Given the description of an element on the screen output the (x, y) to click on. 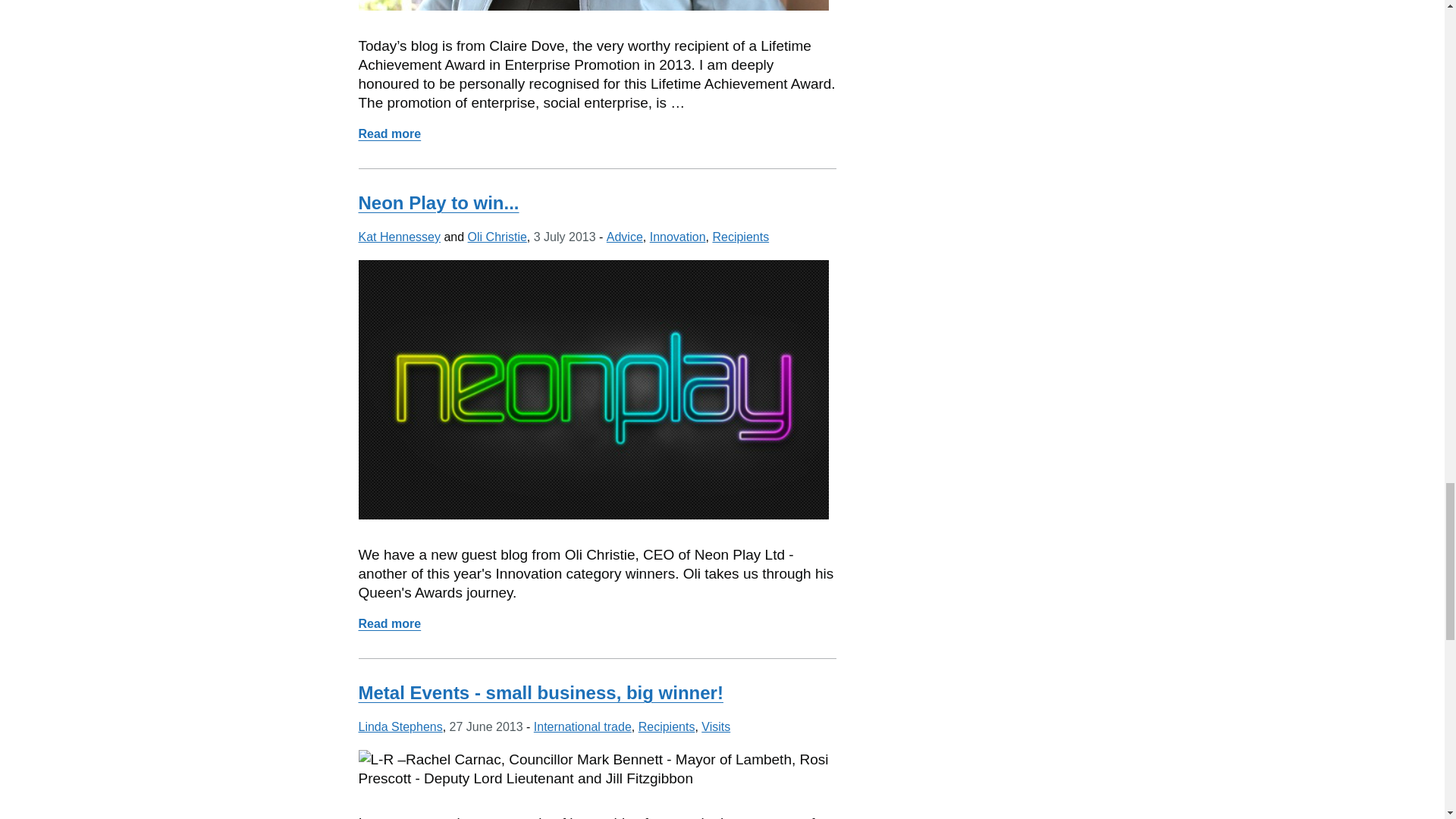
Posts by Kat Hennessey (399, 236)
Posts by Linda Stephens (400, 726)
Neon Play to win... (438, 202)
Posts by Oli Christie (497, 236)
